Given the description of an element on the screen output the (x, y) to click on. 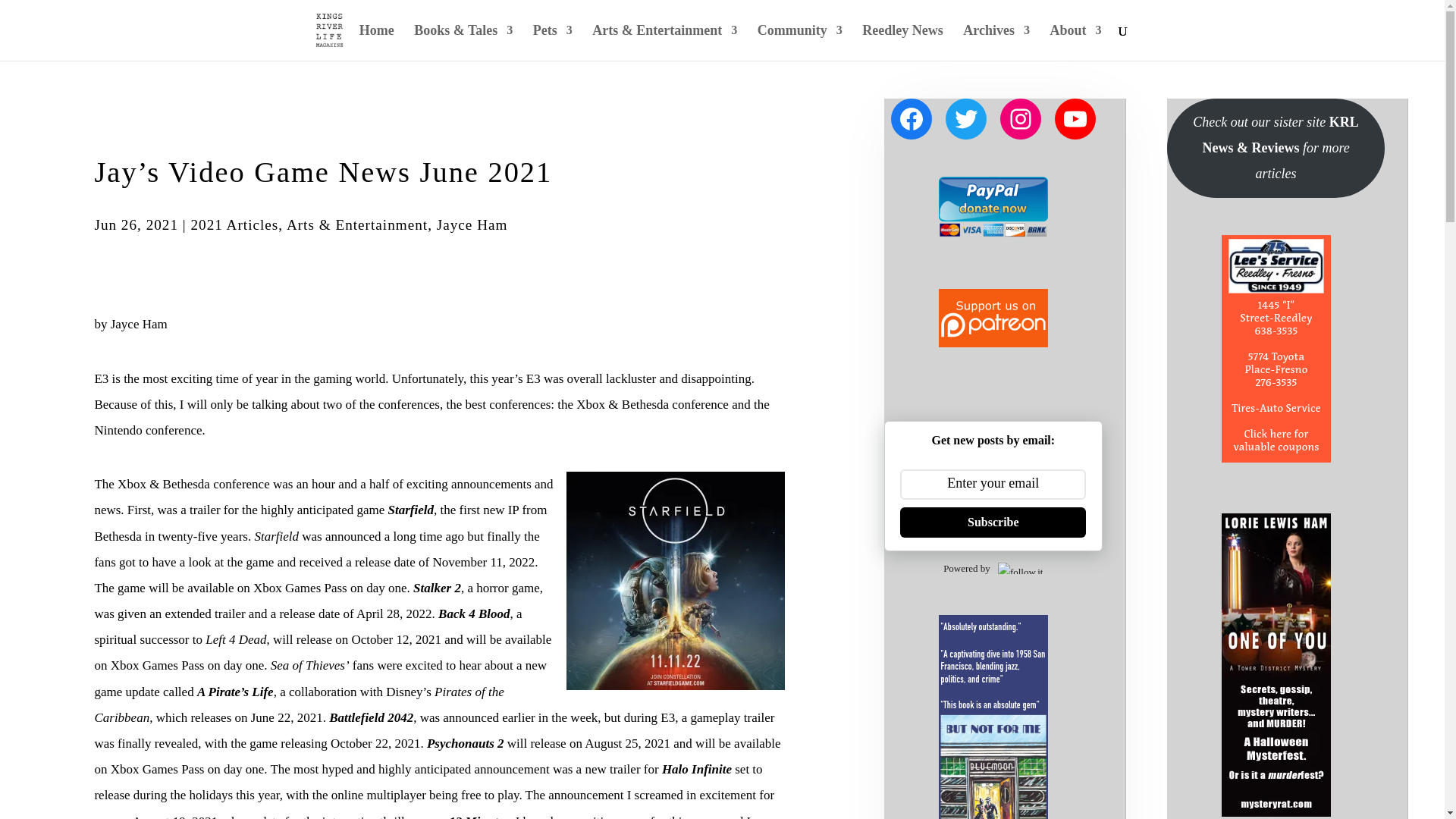
Reedley News (901, 42)
Archives (995, 42)
Home (376, 42)
Community (800, 42)
Pets (552, 42)
